Given the description of an element on the screen output the (x, y) to click on. 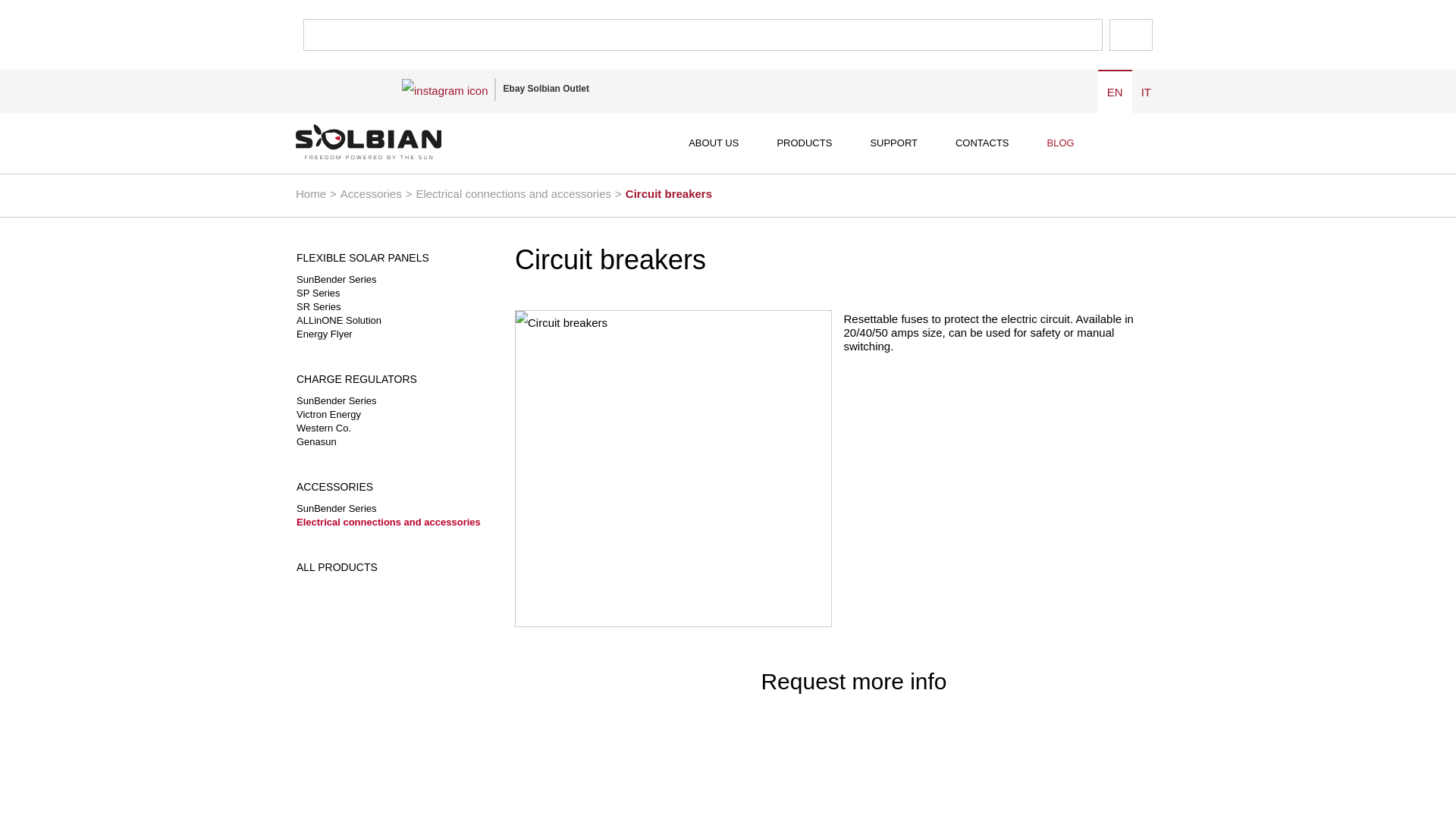
PRODUCTS (803, 143)
EN (1114, 91)
Ebay Solbian Outlet (545, 87)
Products (803, 143)
ABOUT US (713, 143)
Solbian (398, 142)
EN (1114, 91)
About us (713, 143)
